Given the description of an element on the screen output the (x, y) to click on. 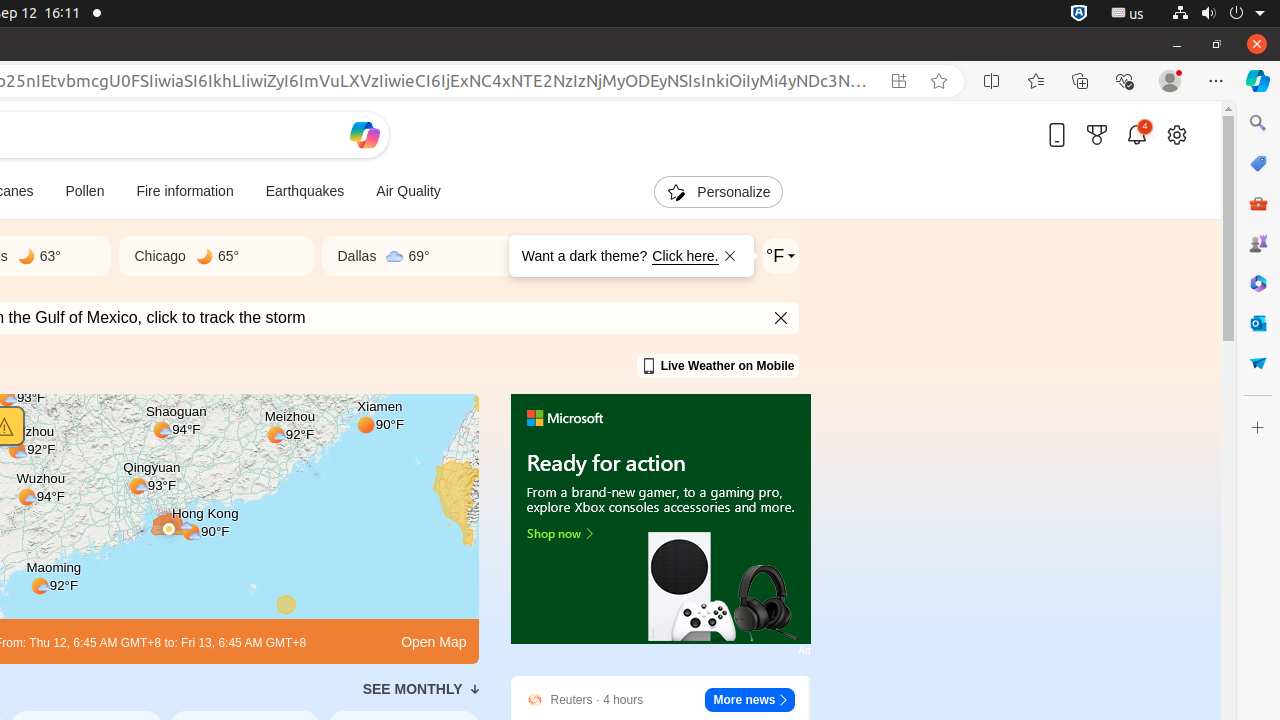
Open Map Element type: link (434, 642)
Outlook Element type: push-button (1258, 323)
Ad Element type: link (804, 650)
Add this page to favorites (Ctrl+D) Element type: push-button (939, 81)
Copilot (Ctrl+Shift+.) Element type: push-button (1258, 81)
